Given the description of an element on the screen output the (x, y) to click on. 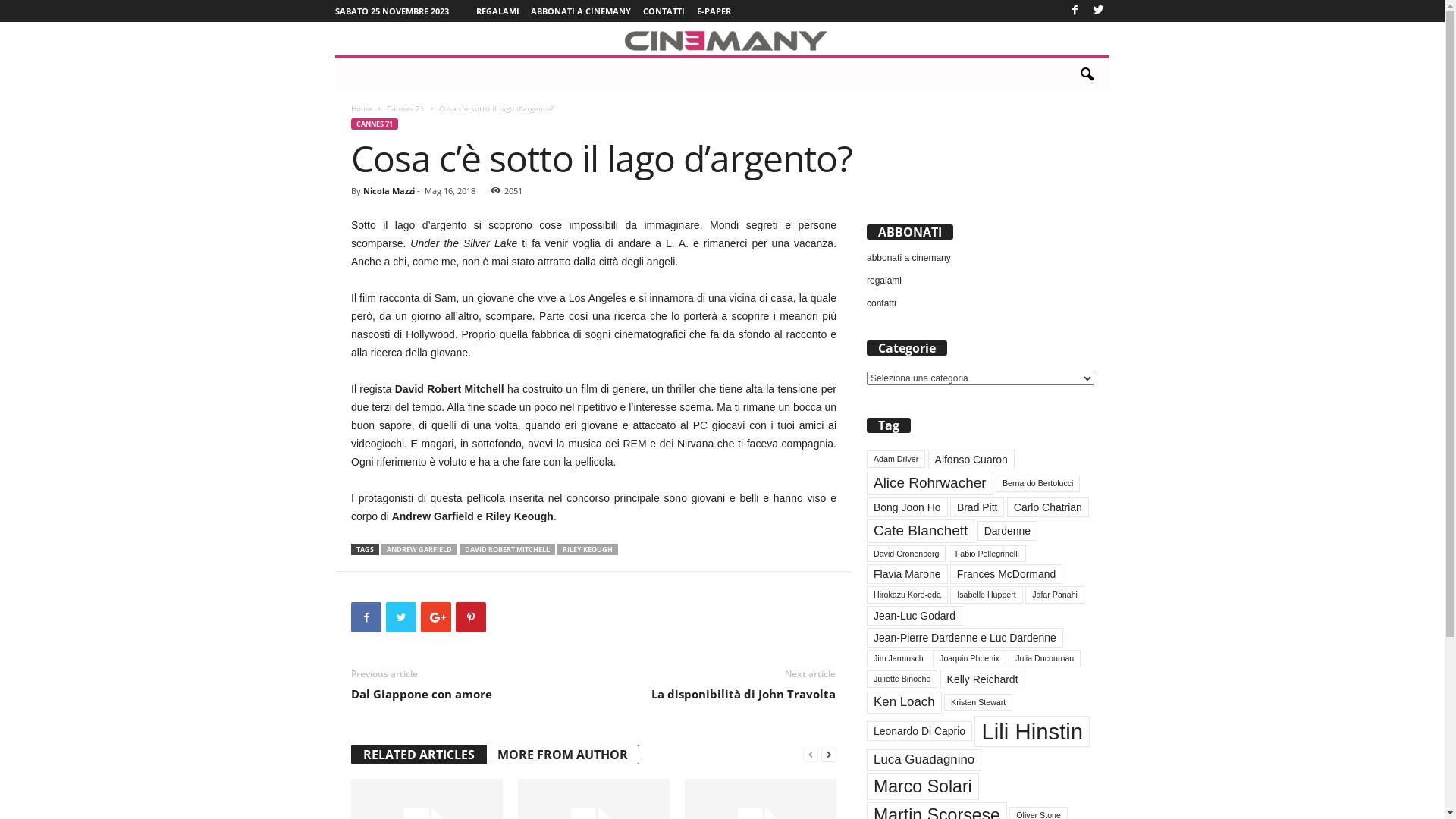
Fabio Pellegrinelli Element type: text (987, 553)
CONTATTI Element type: text (663, 10)
Dardenne Element type: text (1007, 530)
ABBONATI A CINEMANY Element type: text (580, 10)
Ken Loach Element type: text (903, 702)
Marco Solari Element type: text (922, 786)
REGALAMI Element type: text (497, 10)
Cate Blanchett Element type: text (920, 530)
Brad Pitt Element type: text (977, 507)
Carlo Chatrian Element type: text (1047, 507)
E-PAPER Element type: text (713, 10)
MORE FROM AUTHOR Element type: text (562, 754)
Jean-Luc Godard Element type: text (914, 615)
Kristen Stewart Element type: text (978, 702)
Adam Driver Element type: text (895, 458)
Nicola Mazzi Element type: text (388, 190)
DAVID ROBERT MITCHELL Element type: text (507, 549)
Kelly Reichardt Element type: text (982, 679)
contatti Element type: text (881, 303)
Bernardo Bertolucci Element type: text (1037, 483)
RILEY KEOUGH Element type: text (587, 549)
Twitter Element type: hover (1097, 10)
Frances McDormand Element type: text (1006, 573)
cinemany Element type: text (722, 38)
Jim Jarmusch Element type: text (898, 658)
Isabelle Huppert Element type: text (986, 594)
Home Element type: text (361, 108)
Cannes 71 Element type: text (405, 108)
Hirokazu Kore-eda Element type: text (906, 594)
Jafar Panahi Element type: text (1054, 594)
Joaquin Phoenix Element type: text (969, 658)
David Cronenberg Element type: text (905, 553)
RELATED ARTICLES Element type: text (418, 754)
Juliette Binoche Element type: text (901, 678)
Leonardo Di Caprio Element type: text (919, 730)
Alice Rohrwacher Element type: text (929, 483)
regalami Element type: text (883, 280)
Lili Hinstin Element type: text (1031, 730)
Flavia Marone Element type: text (906, 573)
Bong Joon Ho Element type: text (906, 507)
Alfonso Cuaron Element type: text (971, 459)
Dal Giappone con amore Element type: text (421, 694)
CANNES 71 Element type: text (374, 123)
ANDREW GARFIELD Element type: text (419, 549)
Jean-Pierre Dardenne e Luc Dardenne Element type: text (964, 637)
Luca Guadagnino Element type: text (923, 760)
abbonati a cinemany Element type: text (908, 257)
Facebook Element type: hover (1074, 10)
Julia Ducournau Element type: text (1044, 658)
